Given the description of an element on the screen output the (x, y) to click on. 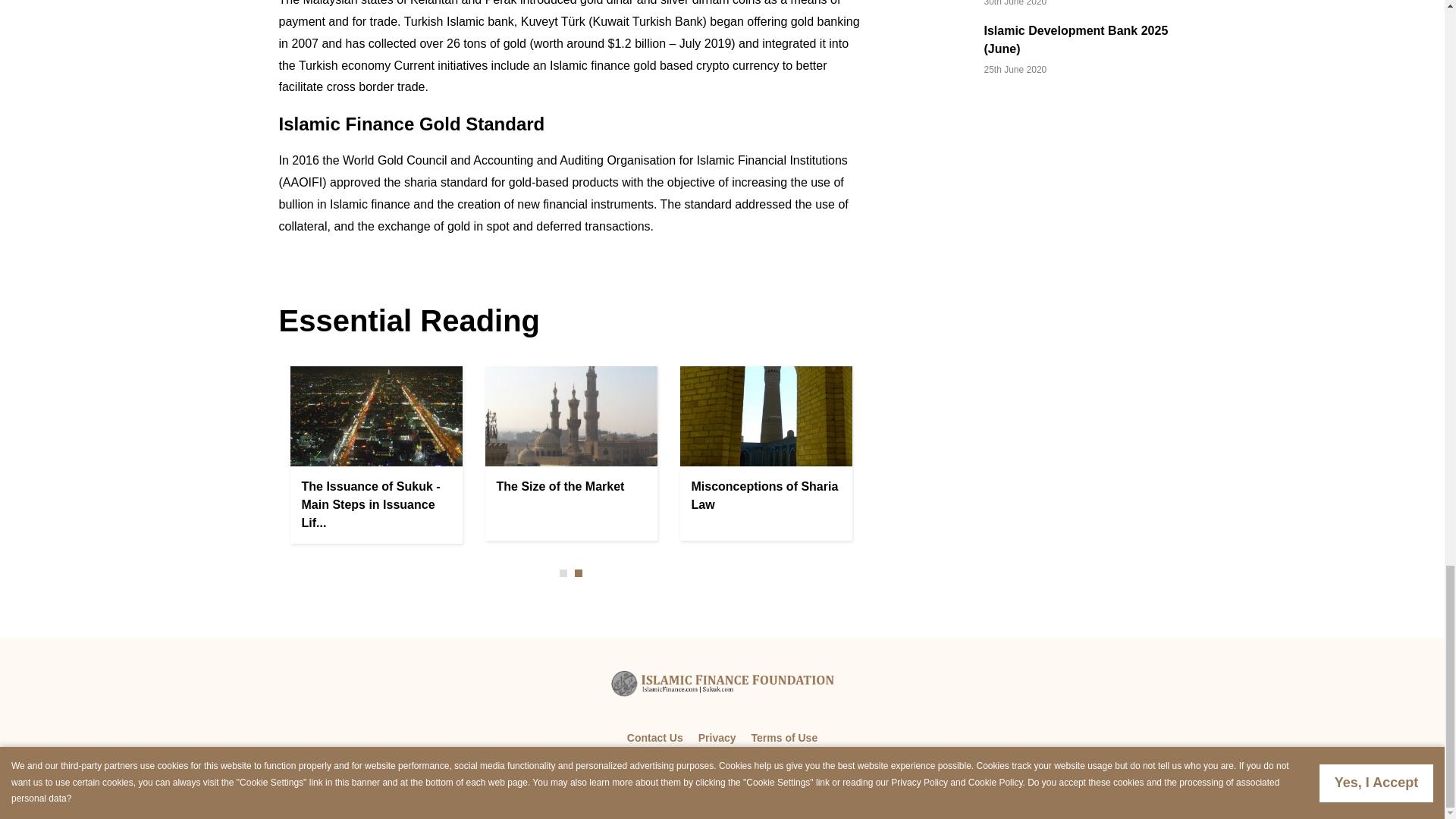
Contact Us (654, 737)
The Size of the Market (570, 416)
Misconceptions of Sharia (766, 416)
The Issuance of Sukuk - Main Steps in Issuance Lif... (371, 504)
Essential Reading (409, 320)
